Given the description of an element on the screen output the (x, y) to click on. 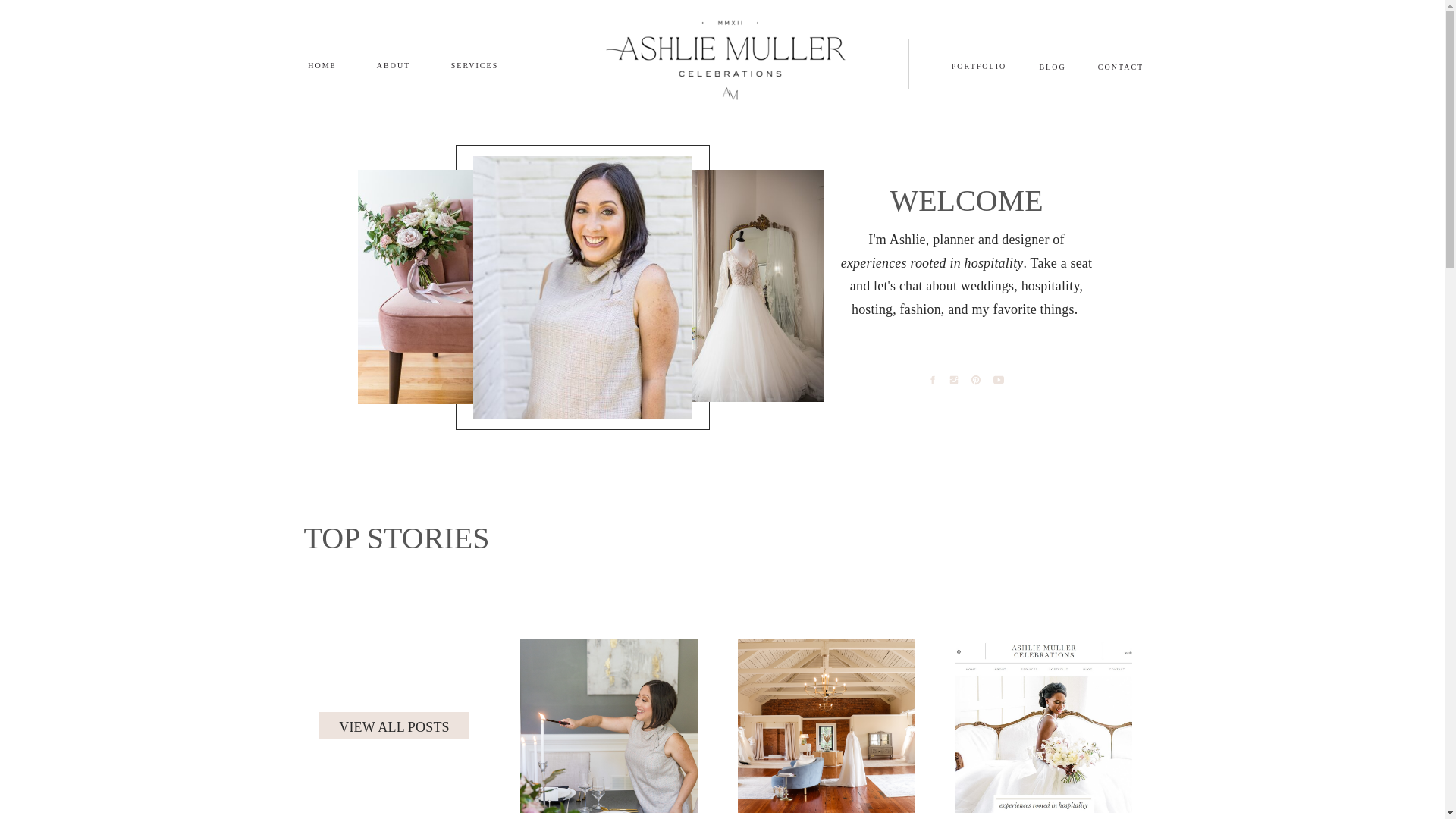
HOME (321, 64)
BLOG (1052, 65)
SERVICES (475, 64)
ABOUT (392, 64)
CONTACT (1120, 65)
VIEW ALL POSTS (393, 728)
PORTFOLIO (978, 64)
